Given the description of an element on the screen output the (x, y) to click on. 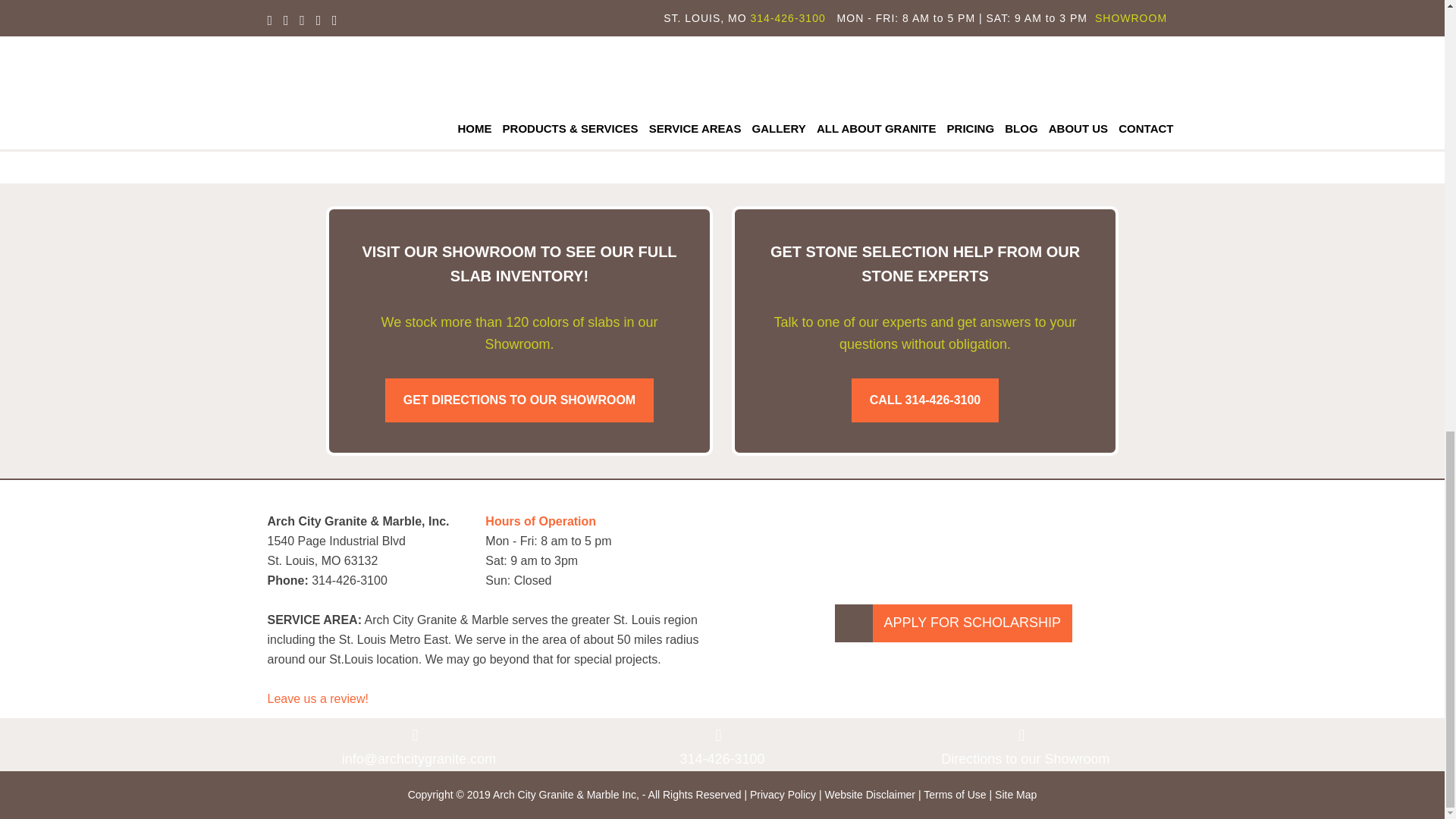
Marble Institute of America (786, 526)
Privacy Policy (782, 794)
Better Business Bureau (1009, 522)
ofallon mo chamber of commerce (897, 526)
Site Map (1015, 794)
Chesterfield MO Chamber of Commerce (1120, 526)
Website Disclaimer (869, 794)
Terms of Use (954, 794)
